Given the description of an element on the screen output the (x, y) to click on. 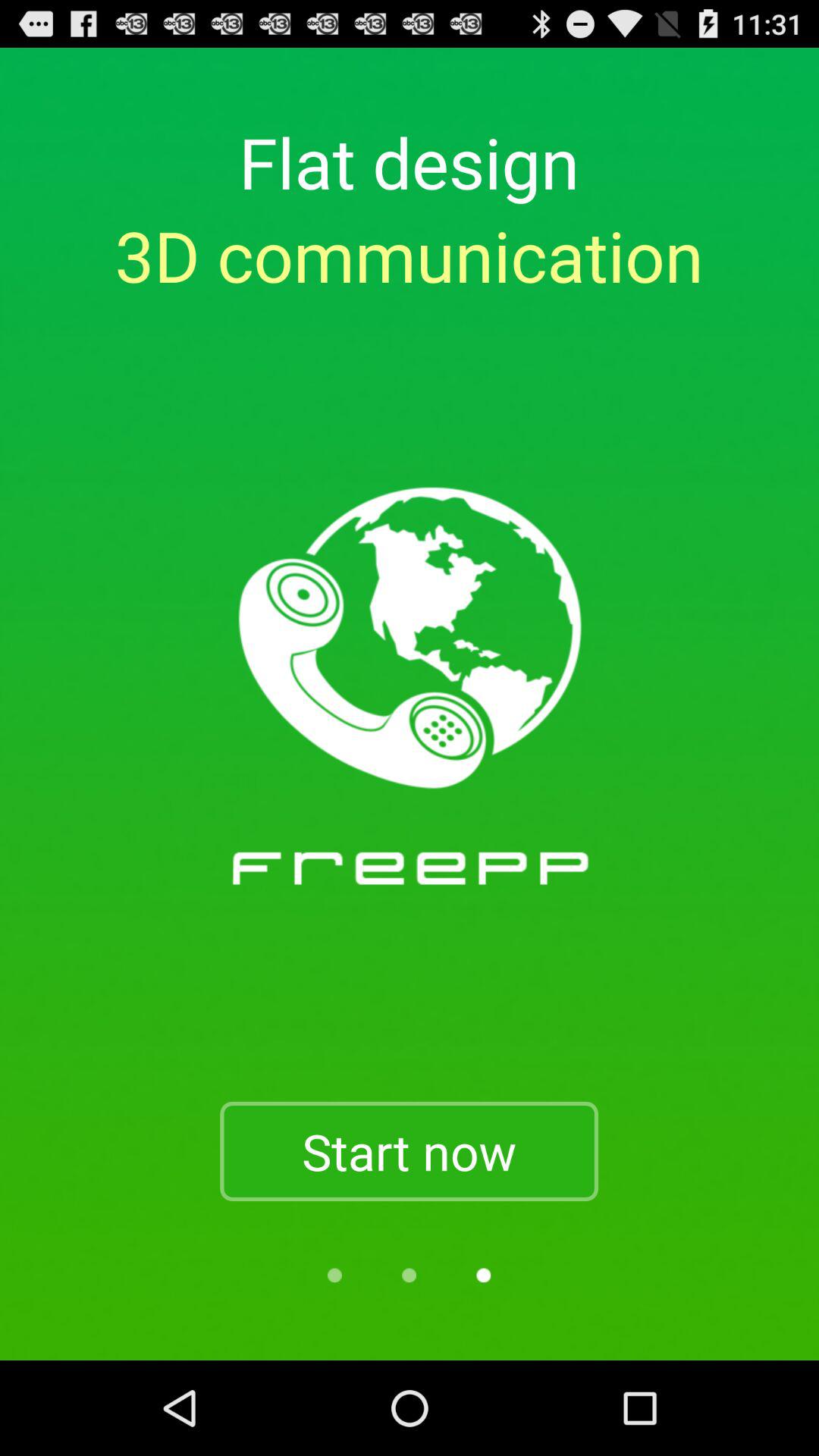
back to start of slideshow (334, 1275)
